Given the description of an element on the screen output the (x, y) to click on. 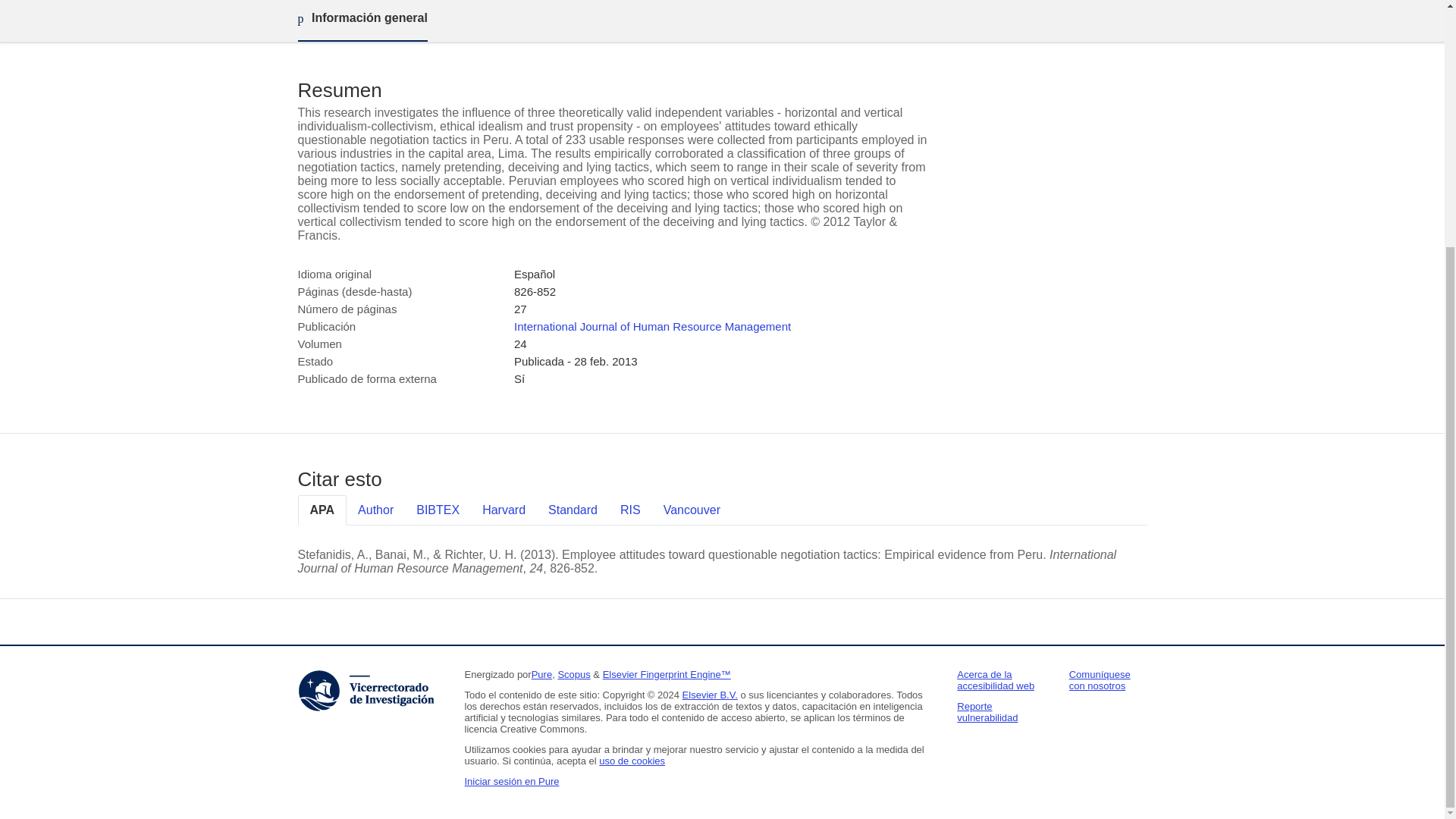
Elsevier B.V. (710, 695)
Pure (541, 674)
Reporte vulnerabilidad (986, 712)
Scopus (573, 674)
International Journal of Human Resource Management (651, 326)
Acerca de la accesibilidad web (994, 680)
uso de cookies (631, 760)
